Given the description of an element on the screen output the (x, y) to click on. 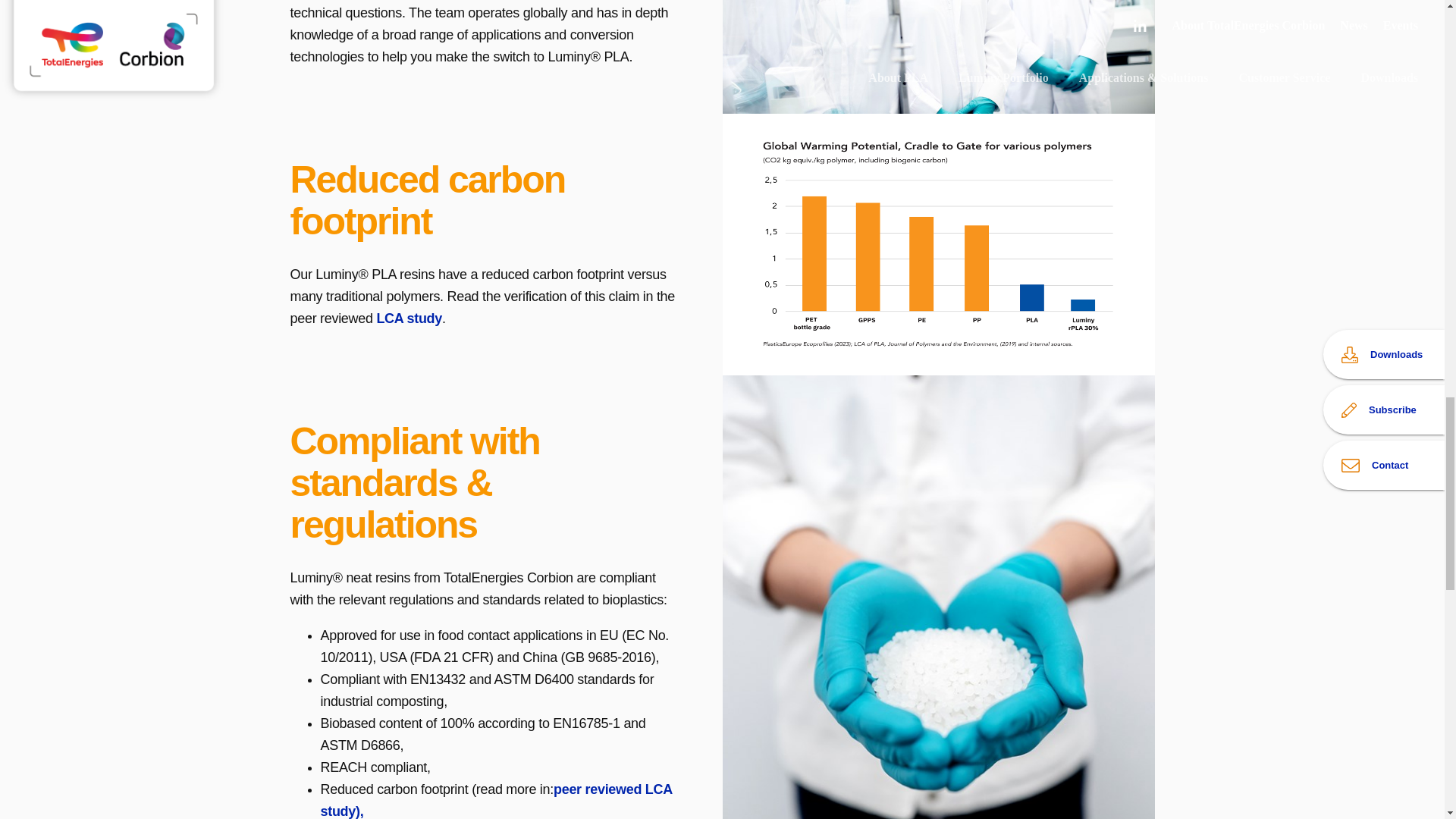
peer reviewed LCA study (495, 800)
LCA study (408, 318)
LCA study (408, 318)
